Given the description of an element on the screen output the (x, y) to click on. 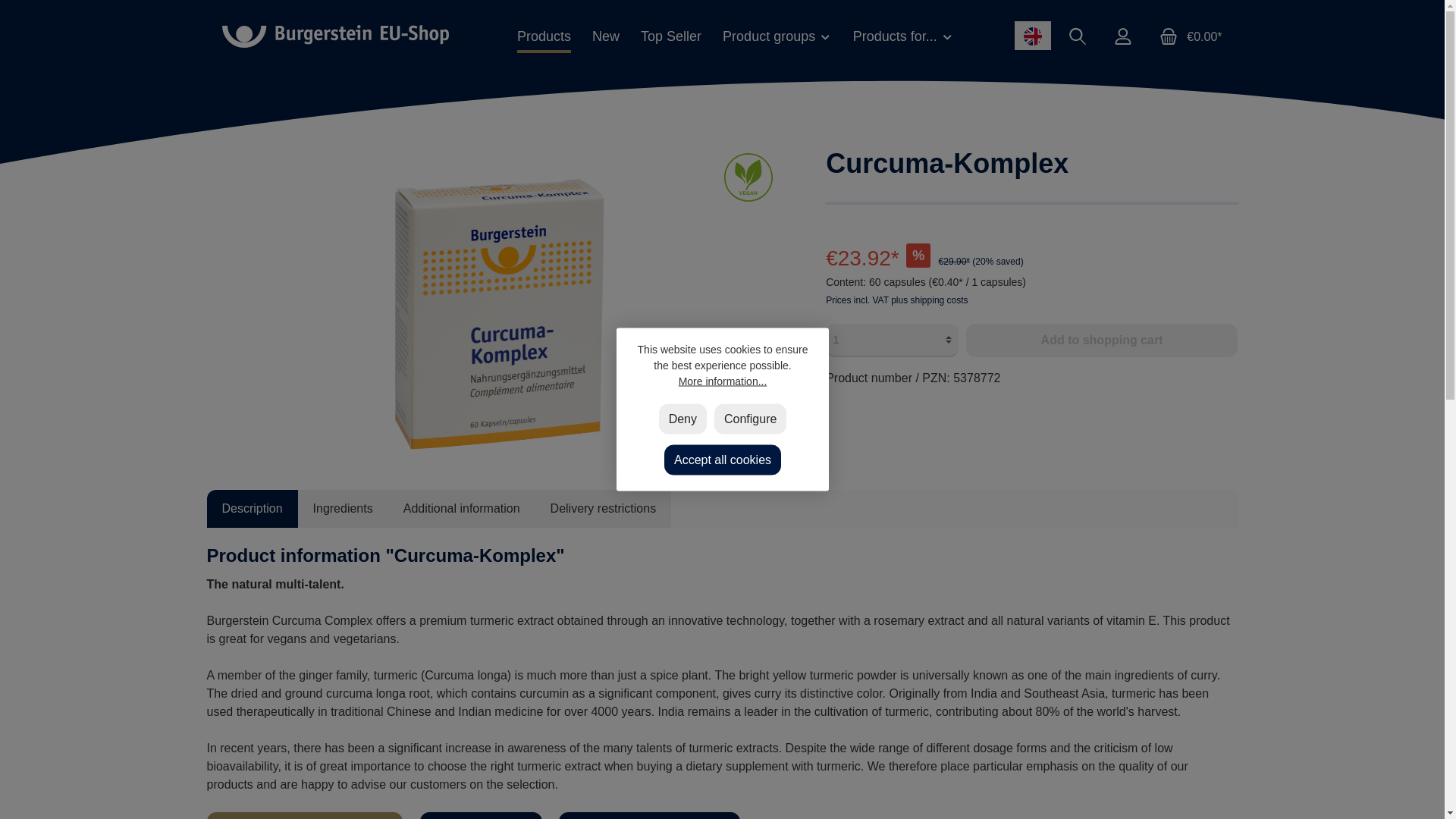
Go to homepage (334, 36)
Products for... (903, 36)
New (605, 36)
New (605, 36)
Top Seller (670, 36)
Top Seller (670, 36)
Products (543, 36)
Product groups (777, 36)
Products (543, 36)
